Given the description of an element on the screen output the (x, y) to click on. 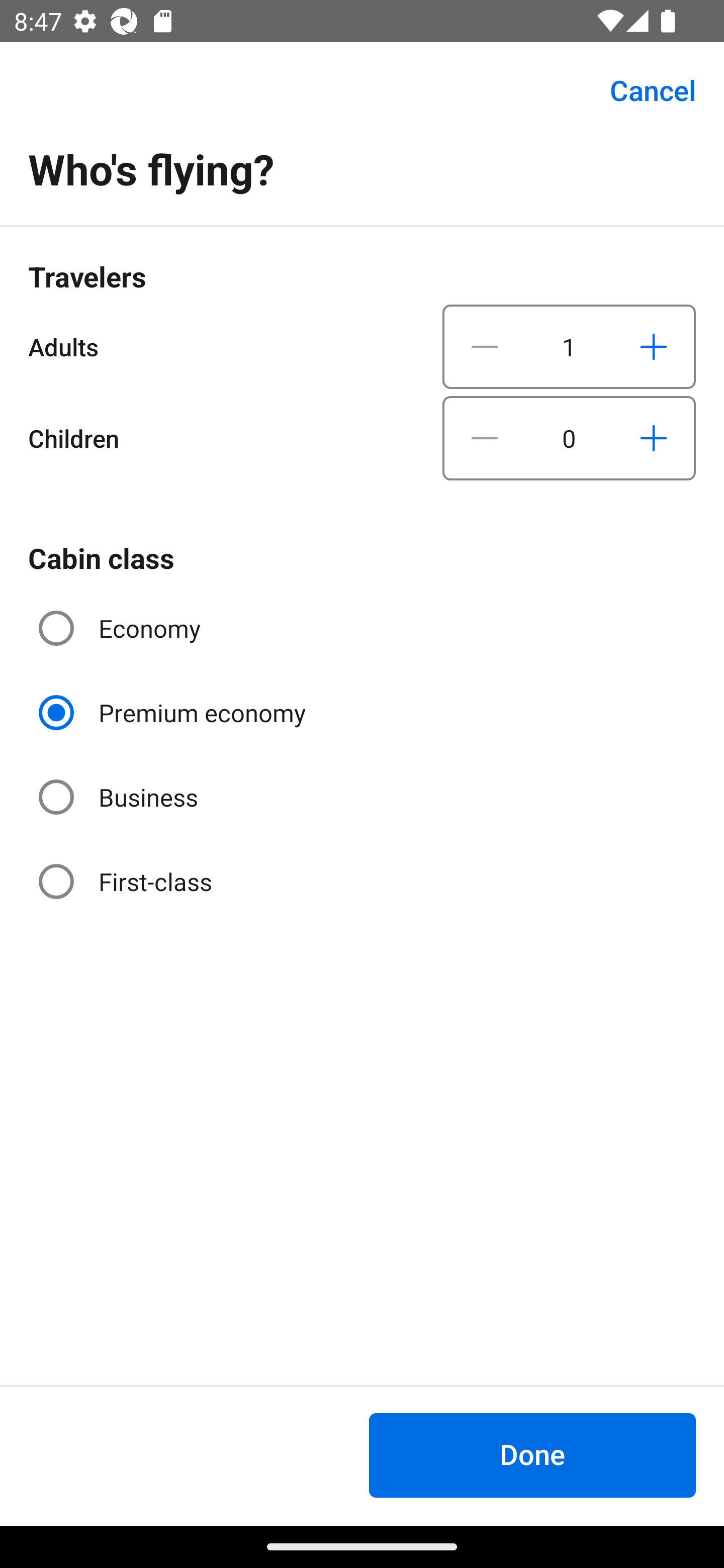
Cancel (641, 90)
Decrease (484, 346)
Increase (653, 346)
Decrease (484, 437)
Increase (653, 437)
Economy (121, 628)
Premium economy (174, 712)
Business (120, 796)
First-class (126, 880)
Done (532, 1454)
